Given the description of an element on the screen output the (x, y) to click on. 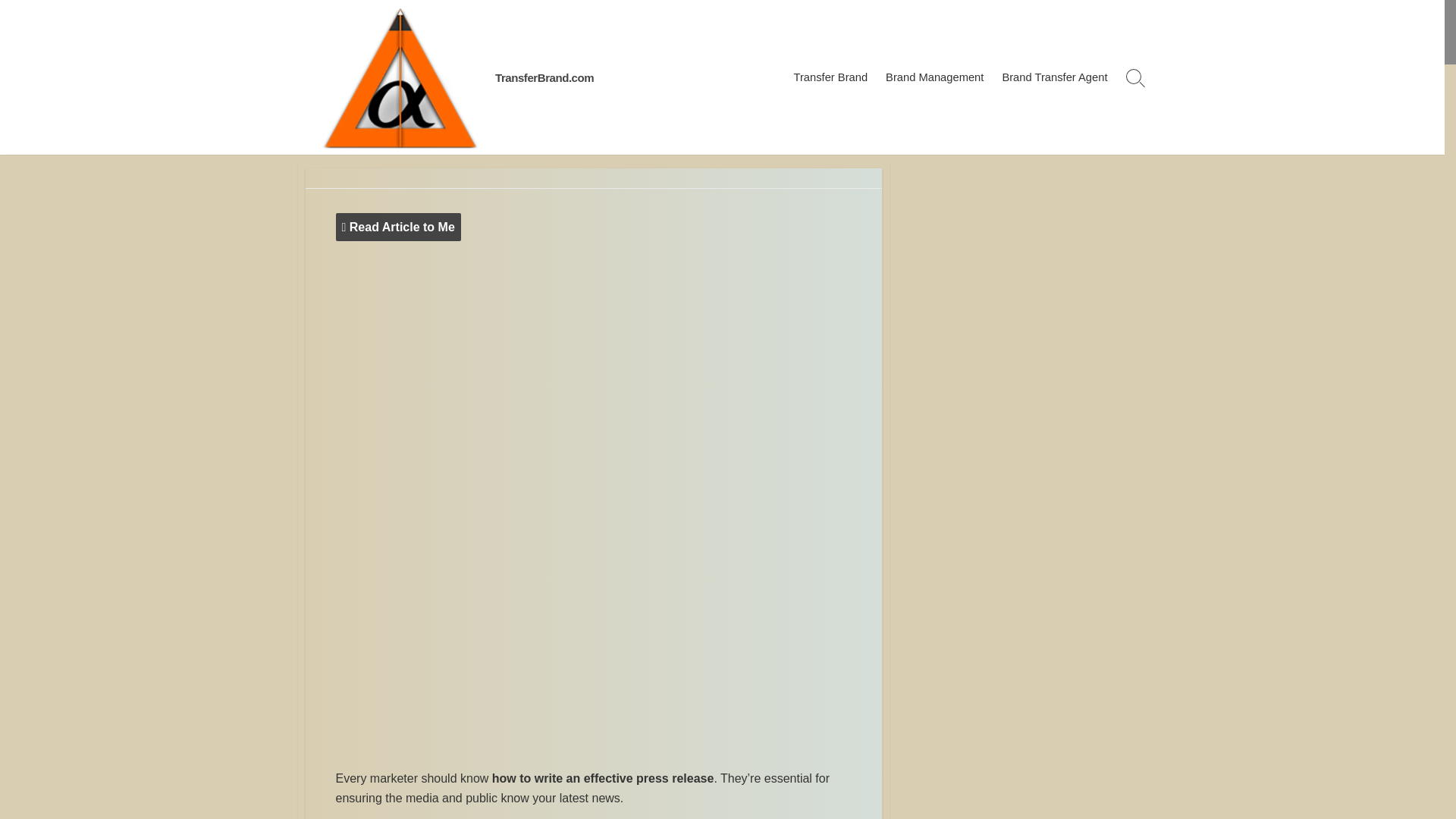
Search Toggle (1135, 77)
TransferBrand.com (544, 77)
Brand Transfer Agent (1054, 77)
TransferBrand.com (544, 77)
TransferBrand.com (399, 77)
Brand Management (934, 77)
Transfer Brand (830, 77)
